Given the description of an element on the screen output the (x, y) to click on. 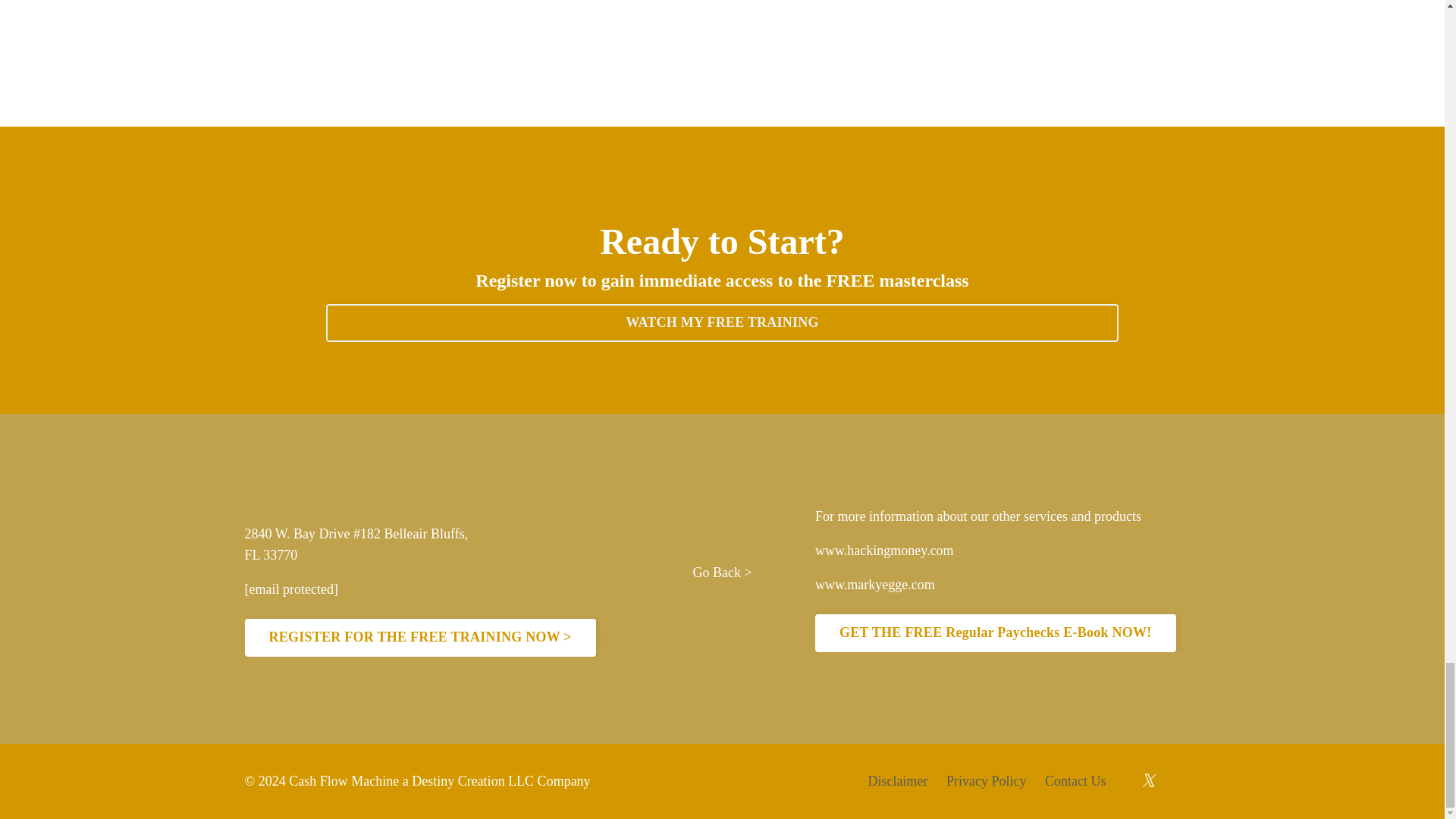
GET THE FREE Regular Paychecks E-Book NOW! (995, 632)
Contact Us (1075, 780)
www.markyegge.com (874, 584)
For more information about our other services and products (978, 516)
WATCH MY FREE TRAINING (722, 322)
Privacy Policy (986, 780)
Disclaimer (897, 780)
www.hackingmoney.com (884, 549)
